Given the description of an element on the screen output the (x, y) to click on. 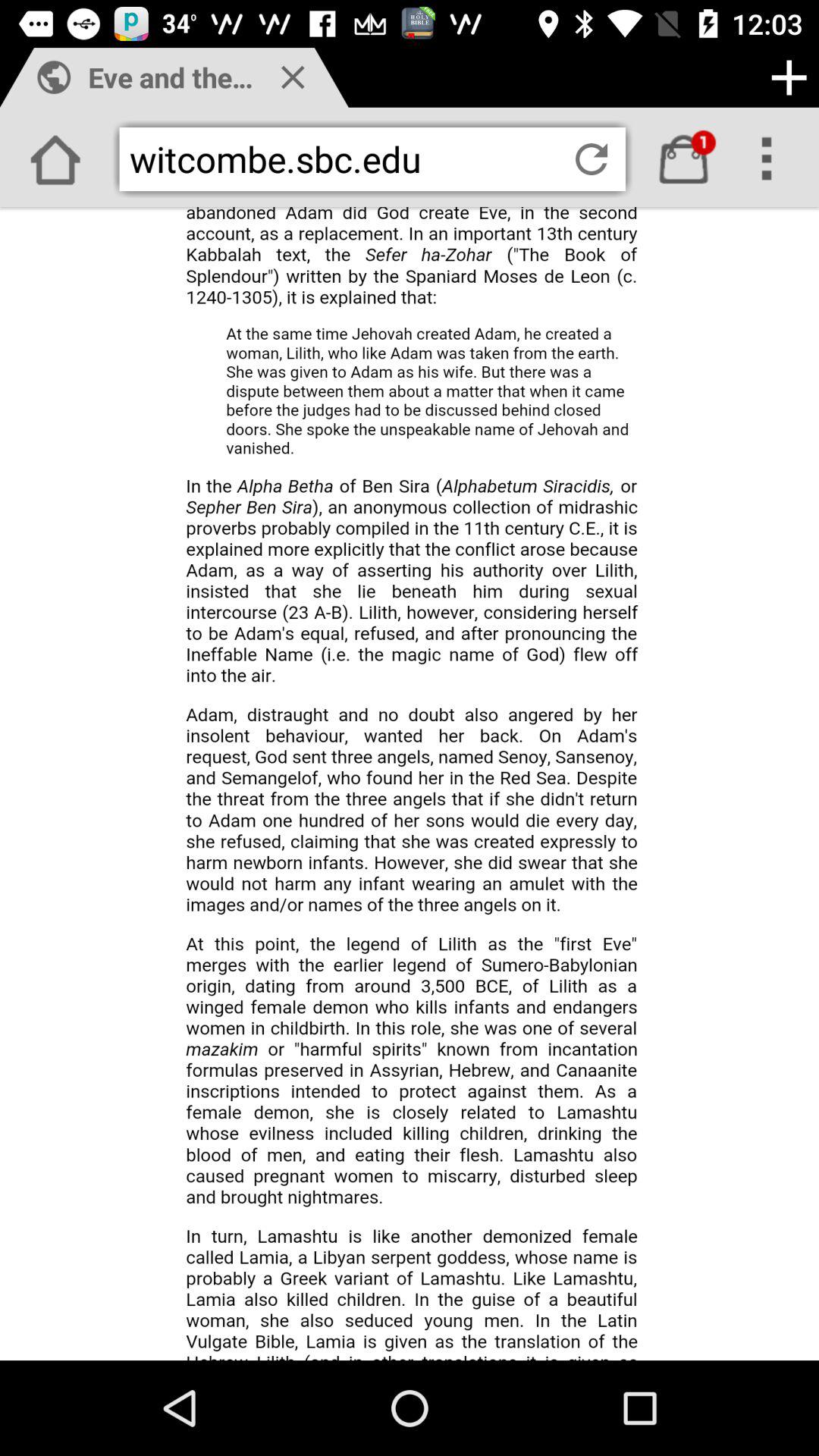
adding option (789, 77)
